Given the description of an element on the screen output the (x, y) to click on. 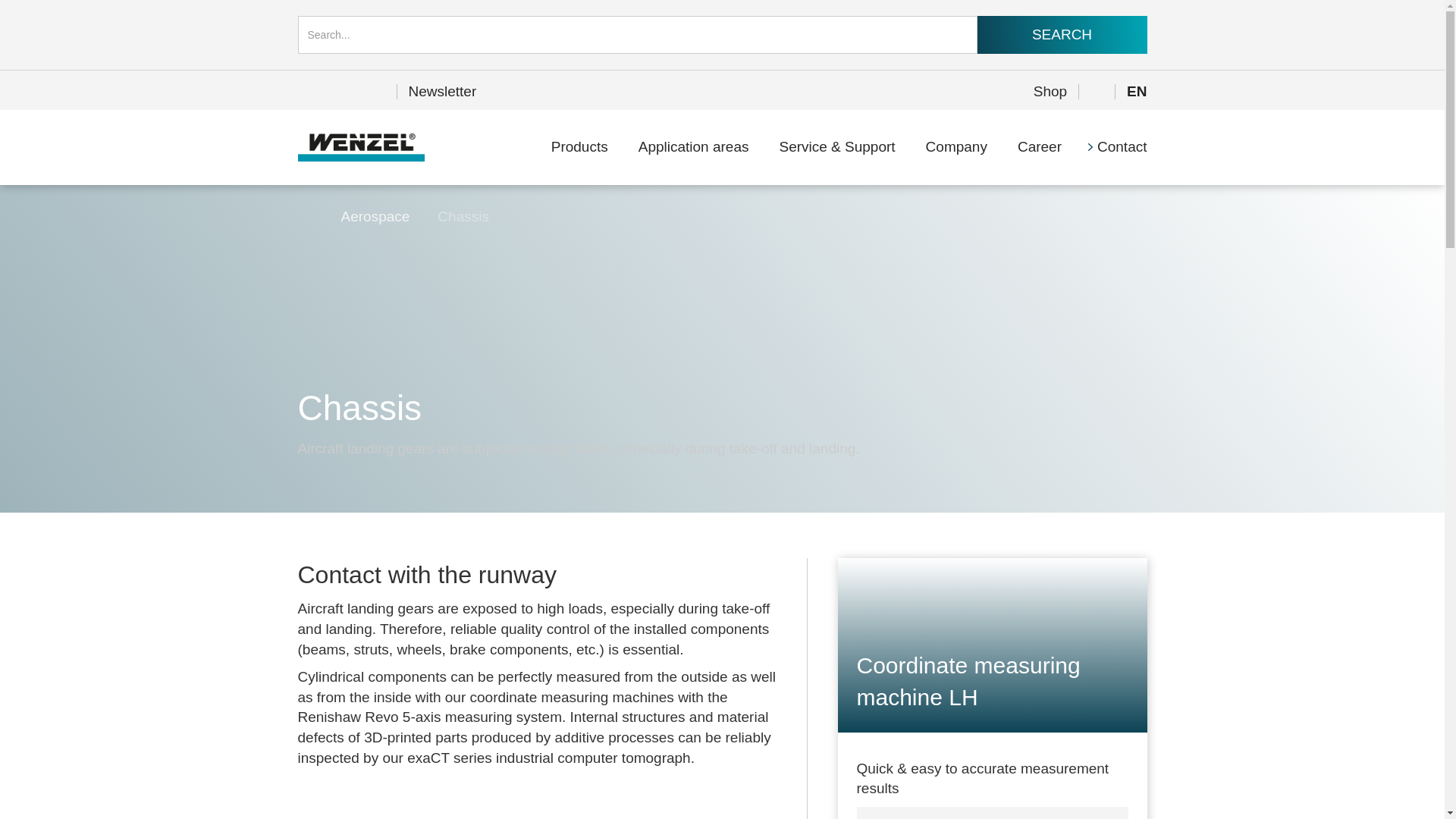
Search (1061, 34)
Search (1061, 34)
Products (580, 147)
Shop (1050, 91)
Newsletter (442, 91)
Search (1061, 34)
